Given the description of an element on the screen output the (x, y) to click on. 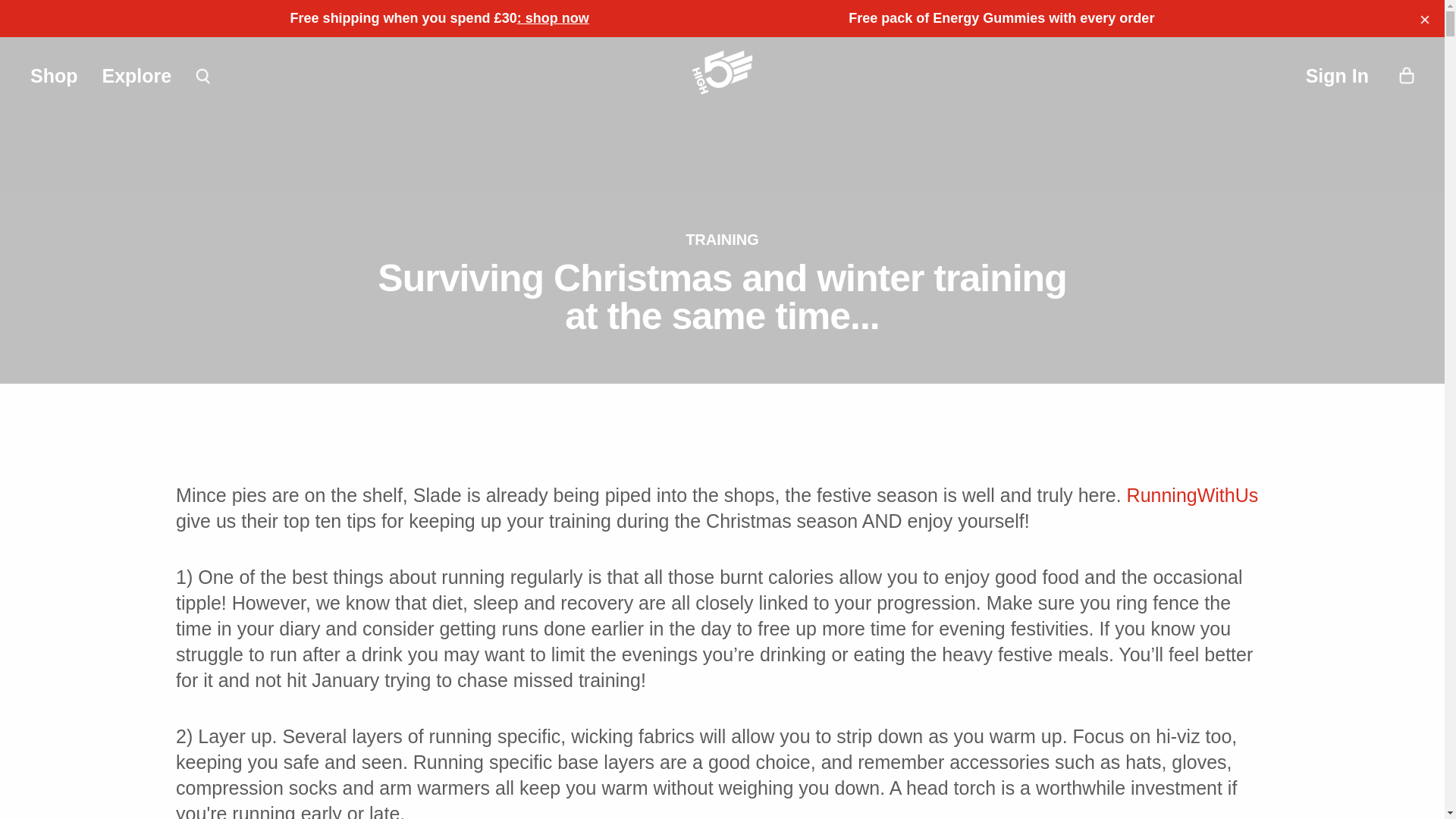
Explore (136, 75)
Bestsellers (552, 17)
Sign In (1337, 75)
: shop now (552, 17)
Shop (54, 75)
